Given the description of an element on the screen output the (x, y) to click on. 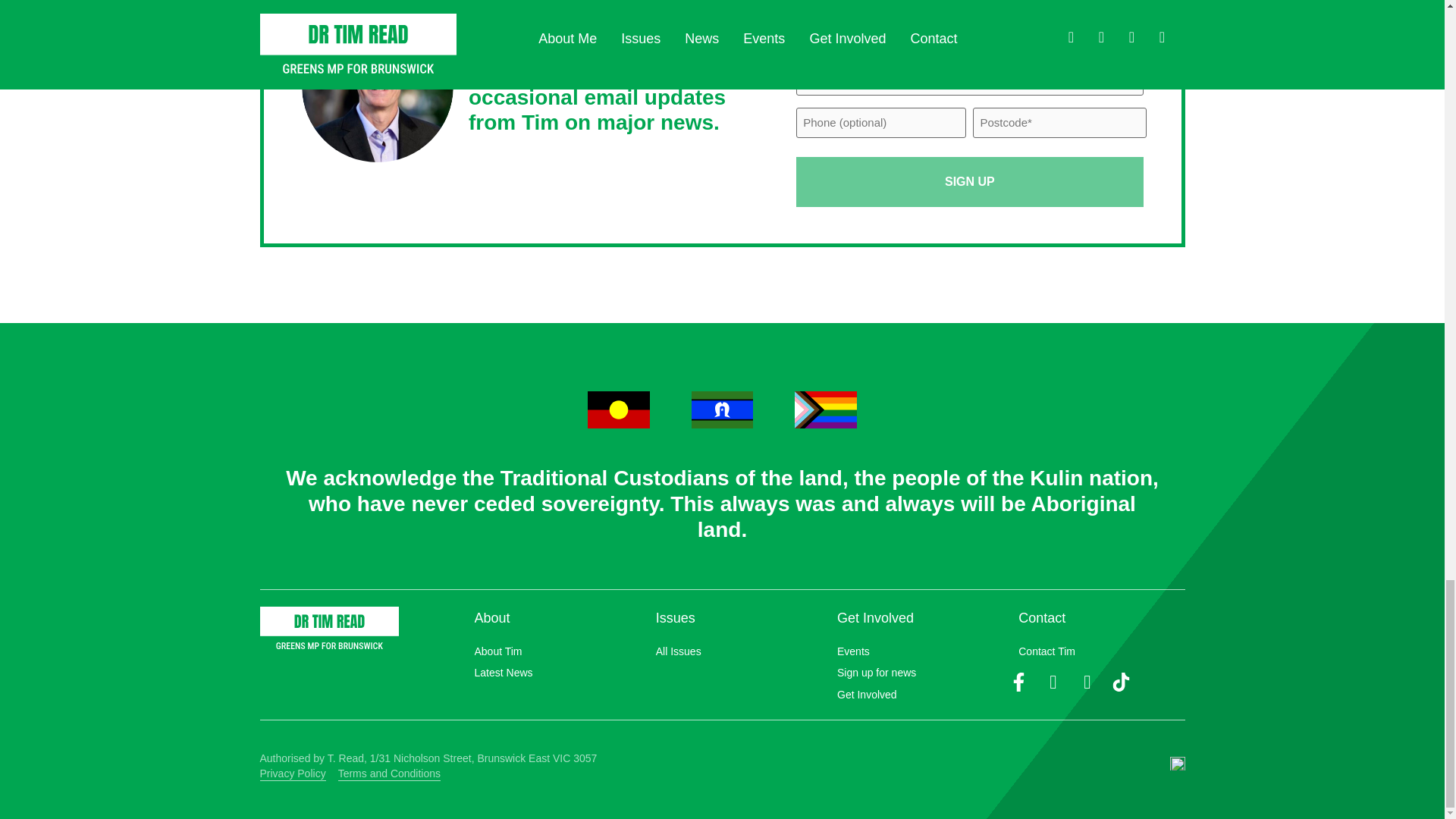
SIGN UP (969, 182)
